Given the description of an element on the screen output the (x, y) to click on. 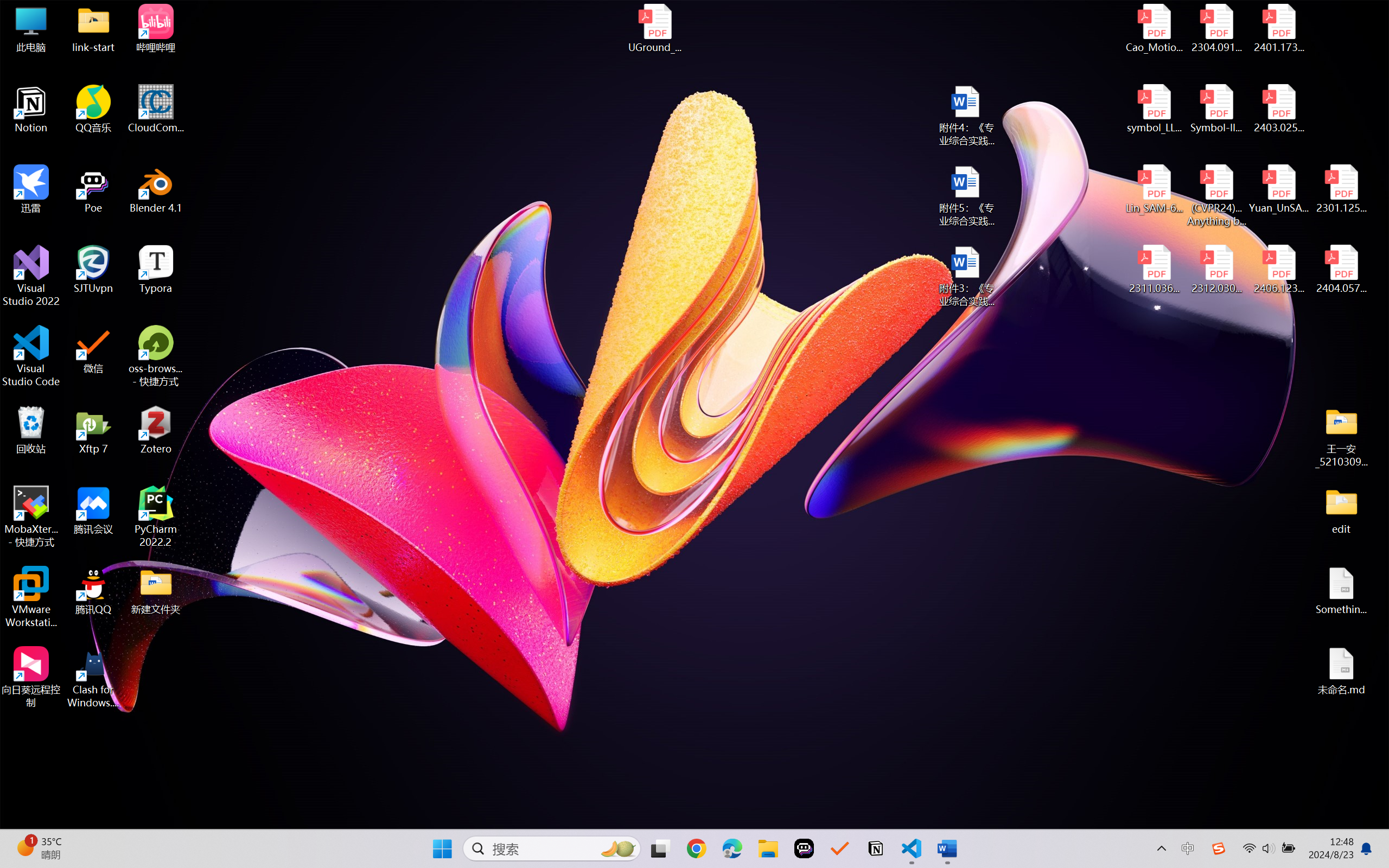
2404.05719v1.pdf (1340, 269)
2401.17399v1.pdf (1278, 28)
(CVPR24)Matching Anything by Segmenting Anything.pdf (1216, 195)
UGround_paper.pdf (654, 28)
Microsoft Edge (731, 848)
Blender 4.1 (156, 189)
